Given the description of an element on the screen output the (x, y) to click on. 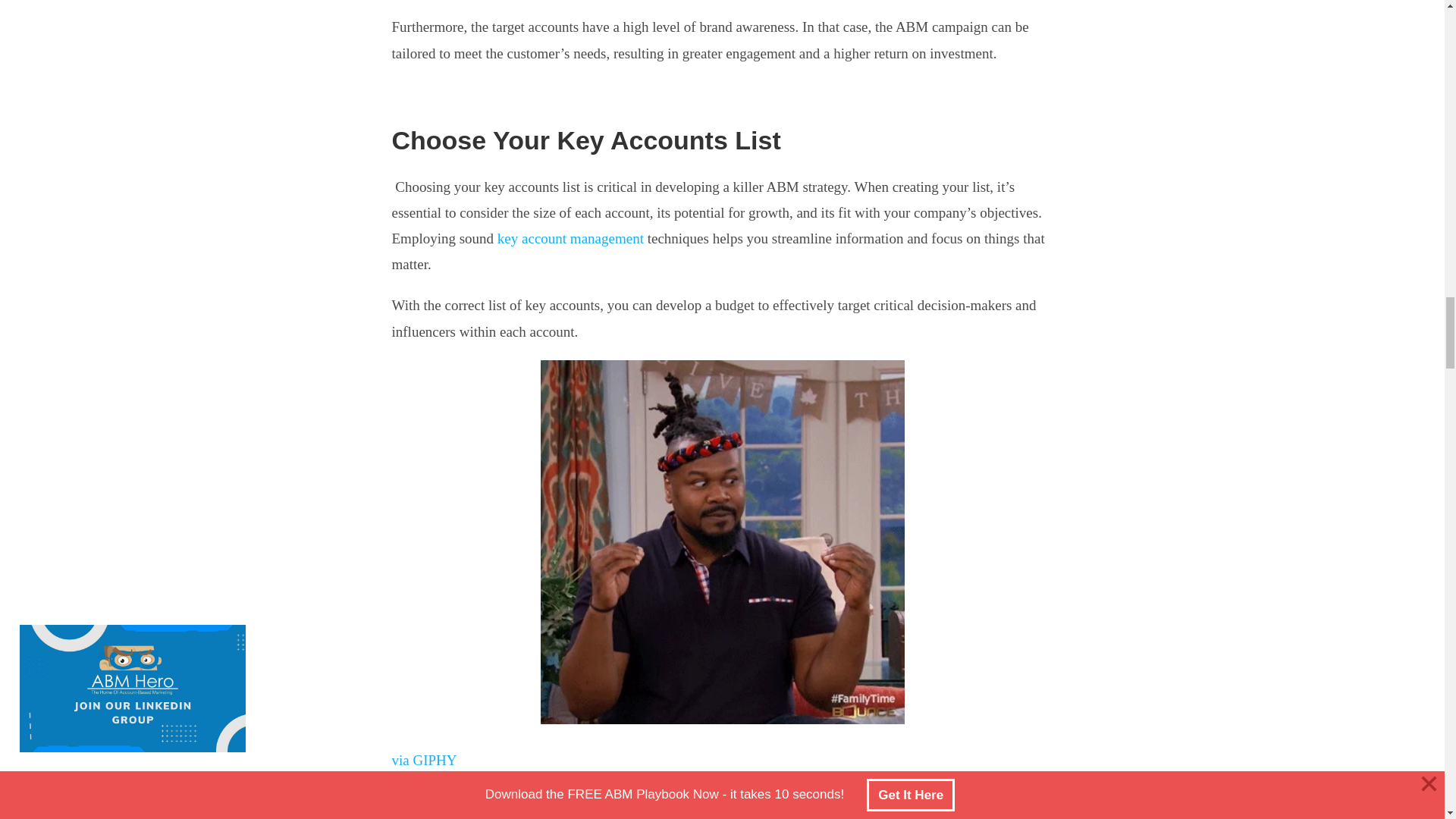
key account management (570, 238)
via GIPHY (424, 760)
